Given the description of an element on the screen output the (x, y) to click on. 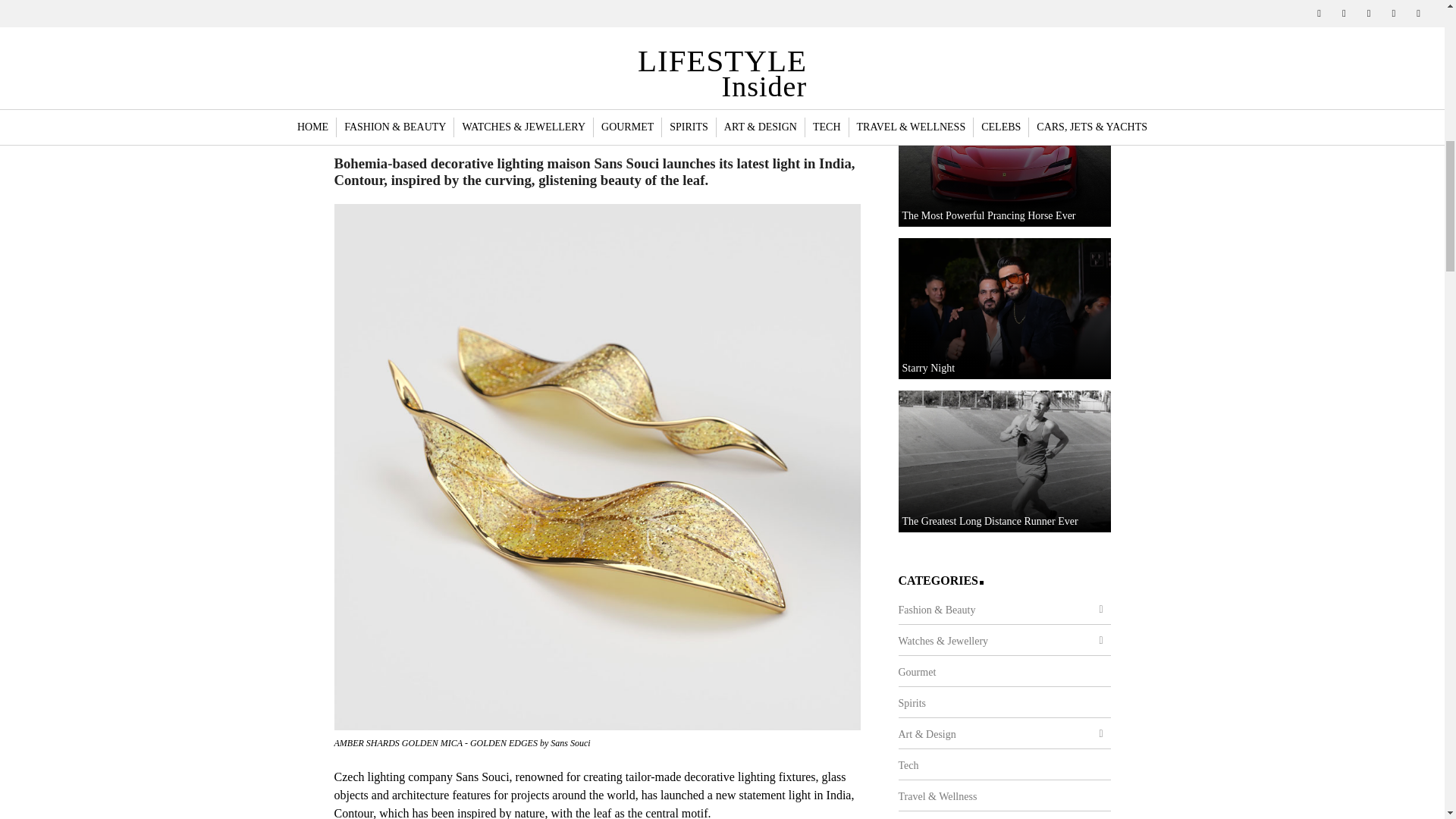
The Greatest Long Distance Runner Ever (1003, 461)
The Most Powerful Prancing Horse Ever (1003, 155)
Starry Night (1003, 309)
